Given the description of an element on the screen output the (x, y) to click on. 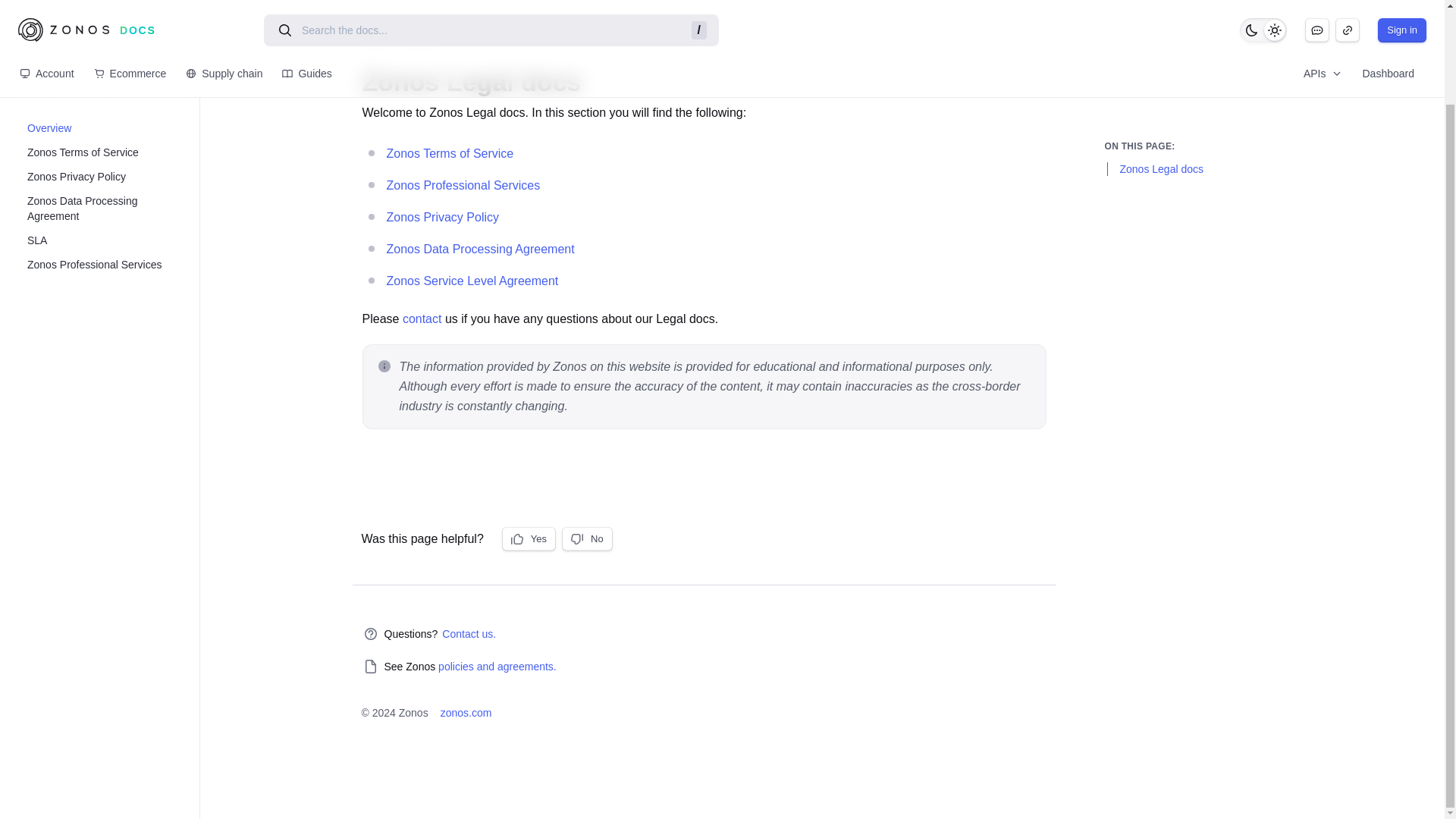
Yes (529, 539)
contact (422, 319)
SLA (107, 131)
Zonos Data Processing Agreement (107, 99)
Zonos Professional Services (463, 186)
Zonos Professional Services (107, 156)
Zonos Terms of Service (107, 43)
No (587, 539)
Zonos Privacy Policy (443, 217)
zonos.com (466, 713)
